Given the description of an element on the screen output the (x, y) to click on. 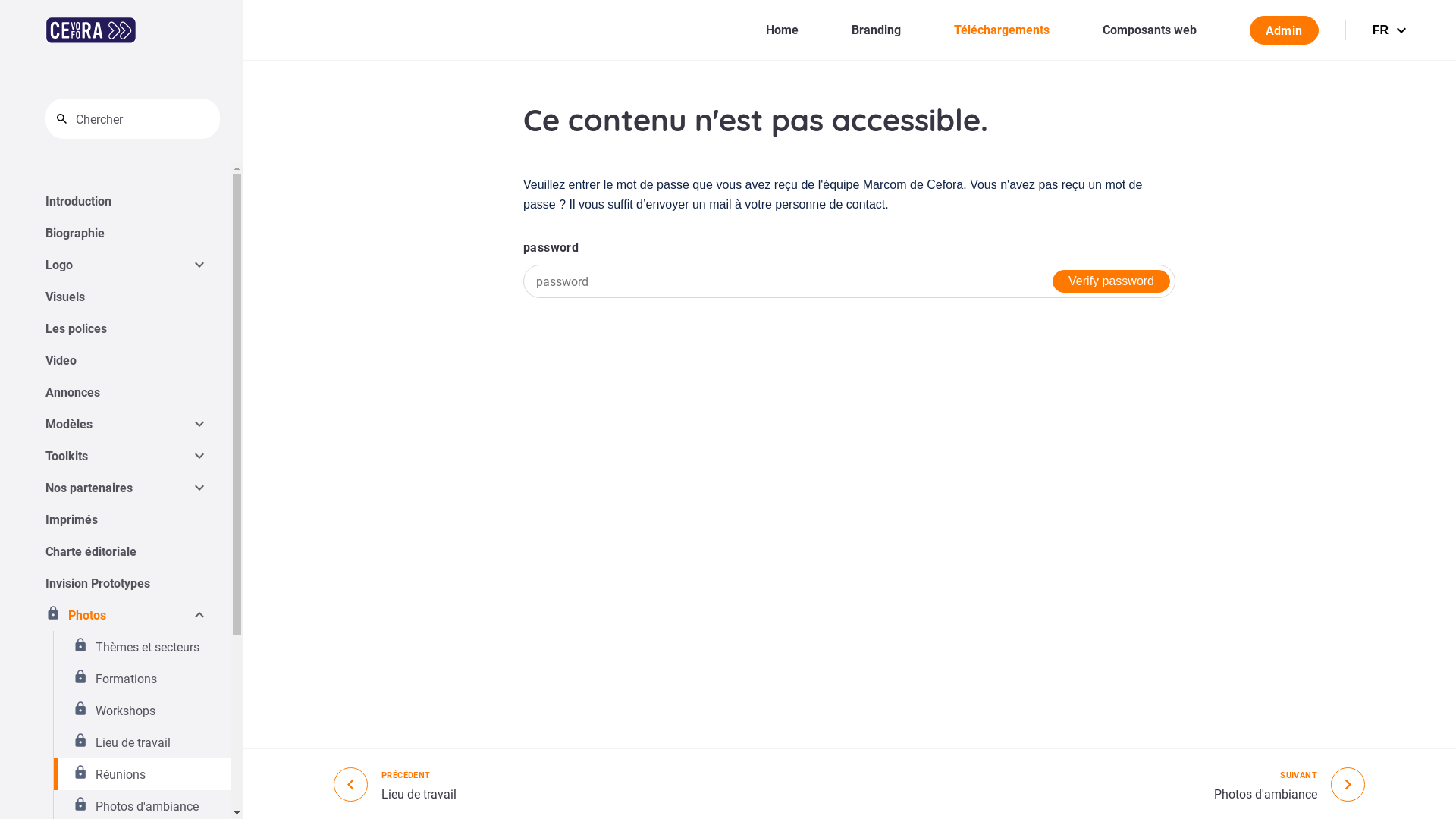
Les polices Element type: text (126, 328)
Logo Element type: text (117, 264)
Visuels Element type: text (126, 296)
Invision Prototypes Element type: text (126, 583)
Admin Element type: text (1283, 29)
Video Element type: text (126, 360)
Branding Element type: text (875, 29)
Annonces Element type: text (126, 391)
Cevora Element type: hover (90, 29)
Introduction Element type: text (126, 200)
Nos partenaires Element type: text (117, 487)
Composants web Element type: text (1149, 29)
Formations Element type: text (142, 678)
Photos Element type: text (117, 614)
Verify password Element type: text (1111, 280)
Biographie Element type: text (126, 232)
FR Element type: text (1391, 29)
Home Element type: text (781, 29)
Workshops Element type: text (142, 710)
Lieu de travail Element type: text (142, 742)
SUIVANT
Photos d'ambiance Element type: text (1289, 783)
Toolkits Element type: text (117, 455)
